Given the description of an element on the screen output the (x, y) to click on. 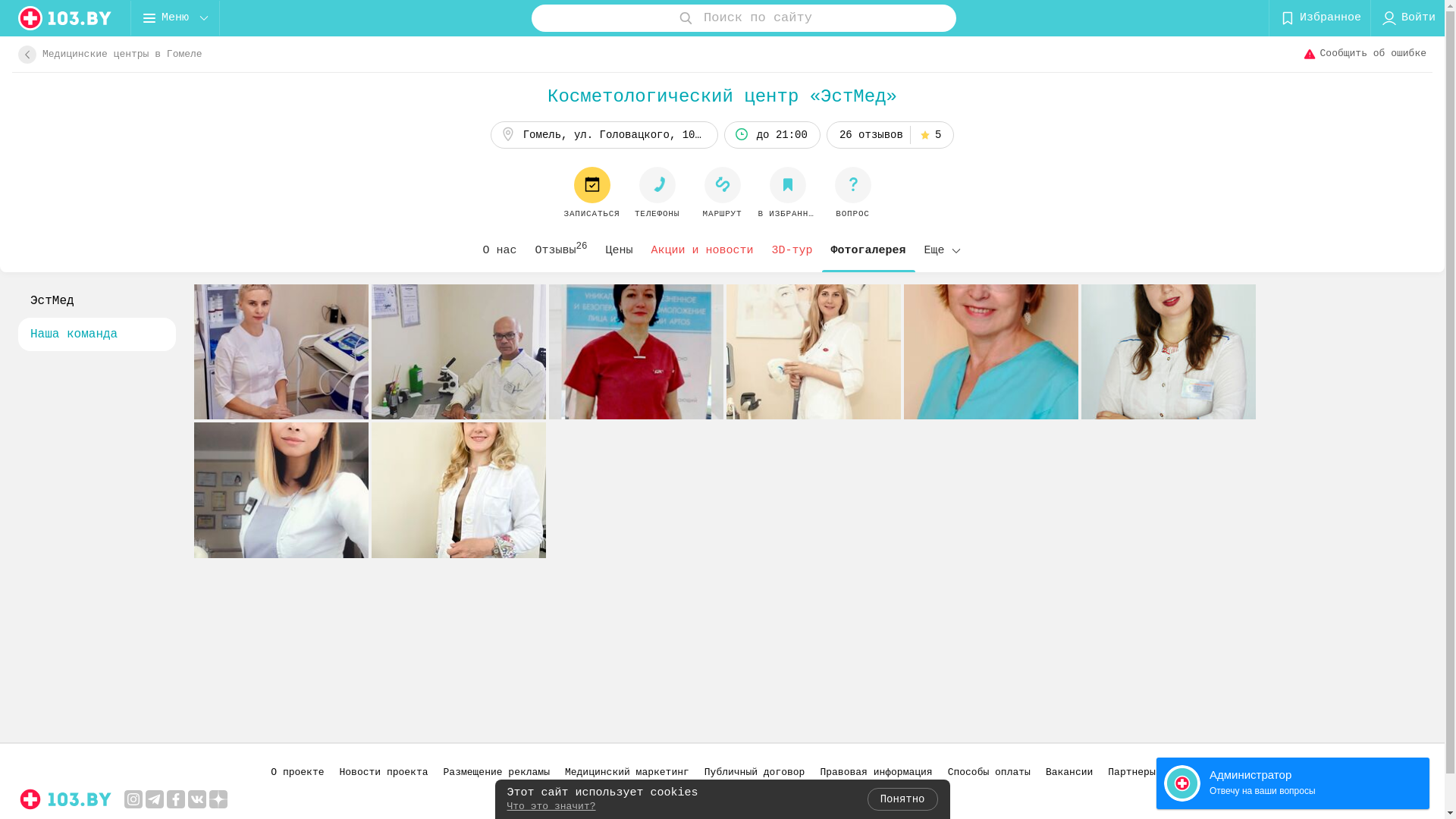
telegram Element type: hover (154, 799)
facebook Element type: hover (175, 799)
logo Element type: hover (65, 18)
instagram Element type: hover (133, 799)
logo Element type: hover (65, 799)
